Given the description of an element on the screen output the (x, y) to click on. 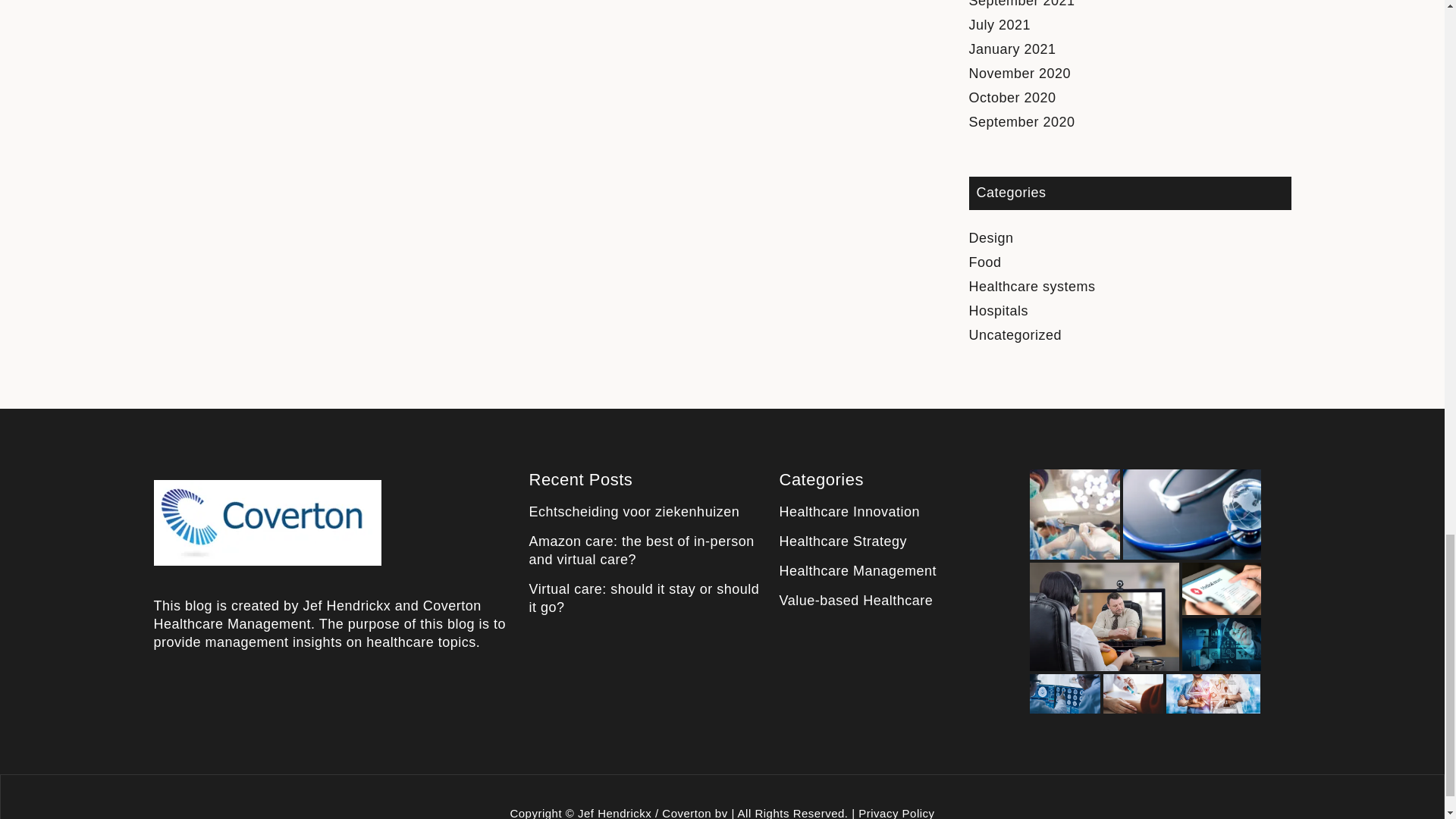
Virtual care: should it stay or should it go? (644, 598)
Amazon care: the best of in-person and virtual care? (641, 550)
Privacy Policy (896, 812)
Design (991, 237)
September 2020 (1022, 121)
Healthcare Strategy (842, 540)
Value-based Healthcare (855, 600)
Echtscheiding voor ziekenhuizen (634, 511)
July 2021 (999, 24)
January 2021 (1013, 48)
